Given the description of an element on the screen output the (x, y) to click on. 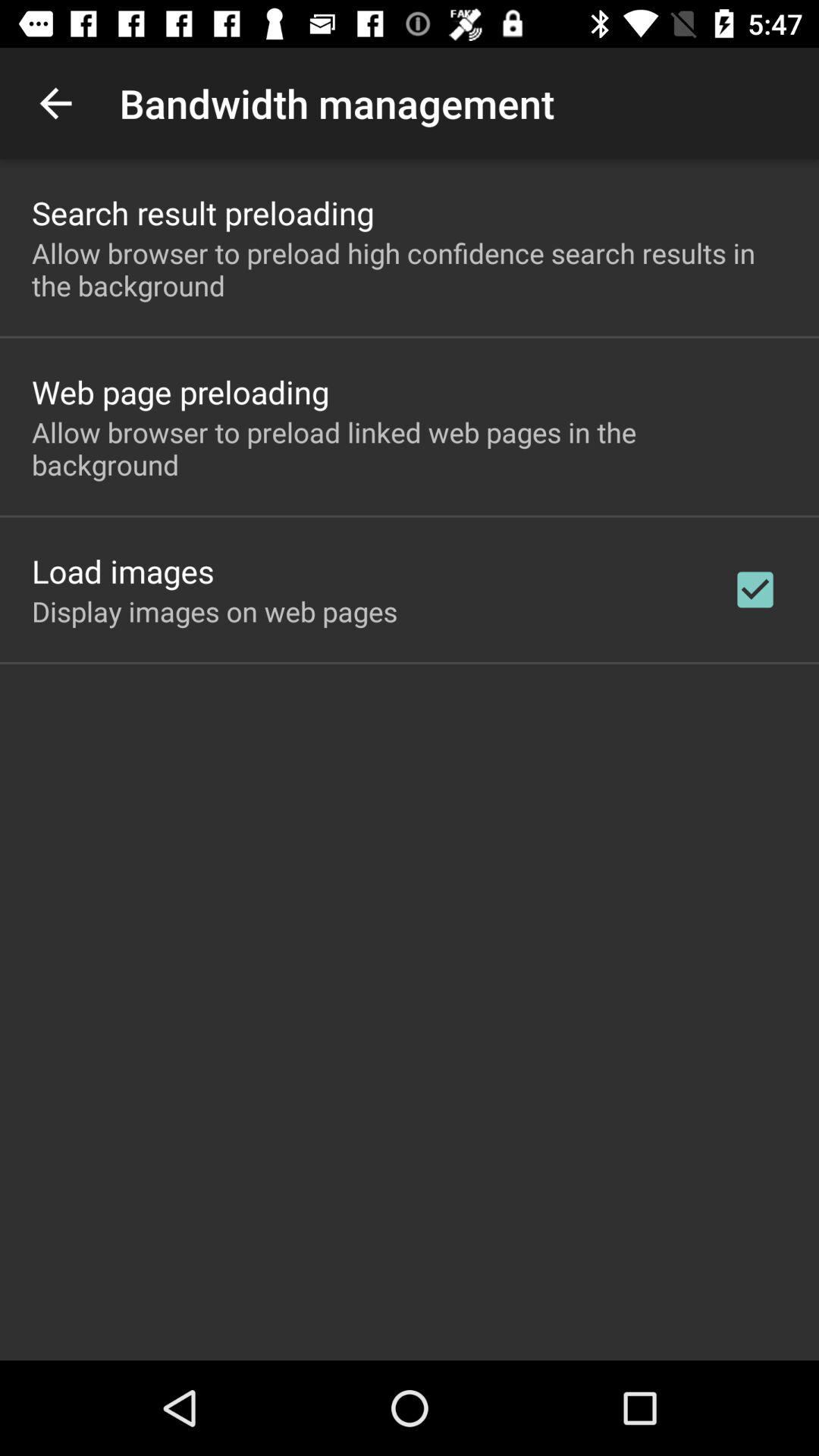
scroll until the load images icon (122, 570)
